Given the description of an element on the screen output the (x, y) to click on. 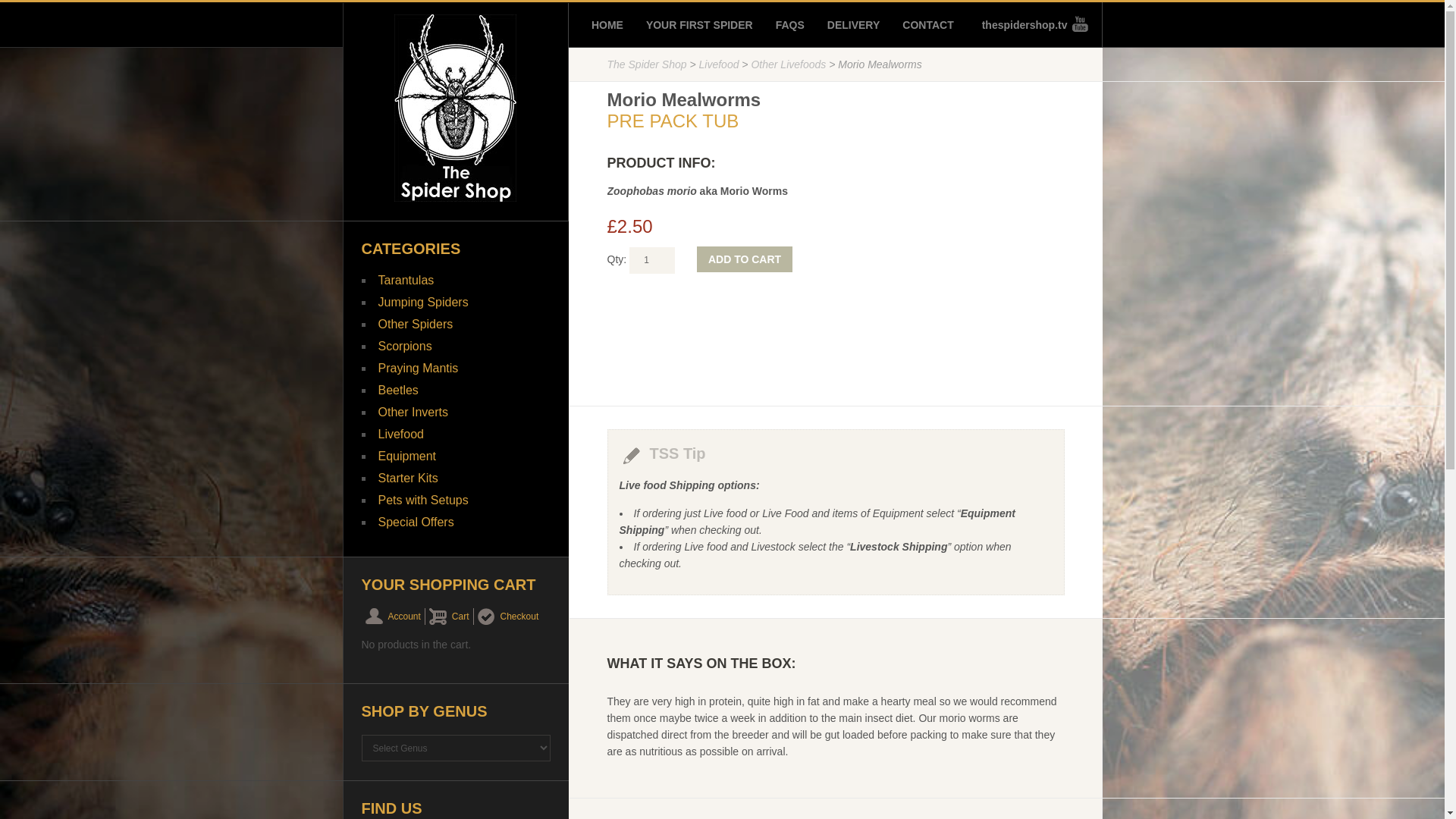
Livefood (718, 64)
Tarantulas (405, 279)
Jumping Spiders (422, 301)
CONTACT (927, 24)
thespidershop.tv (1030, 24)
DELIVERY (853, 24)
Beetles (397, 390)
Other Livefoods (788, 64)
Praying Mantis (417, 367)
The Spider Shop (646, 64)
